Given the description of an element on the screen output the (x, y) to click on. 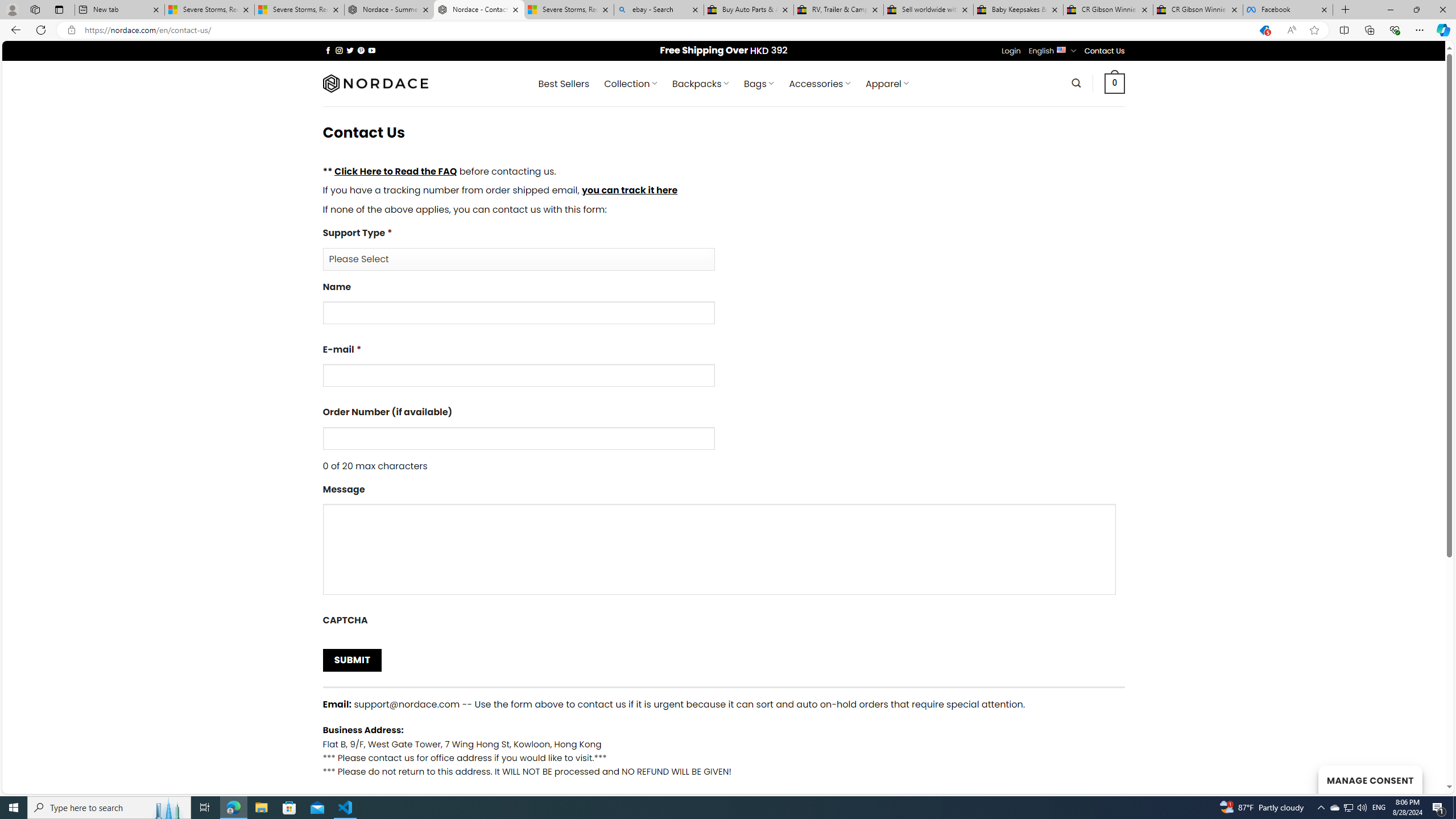
Message (718, 549)
Support Type* (723, 248)
 0  (1115, 83)
Message (723, 543)
Follow on Pinterest (360, 49)
